Given the description of an element on the screen output the (x, y) to click on. 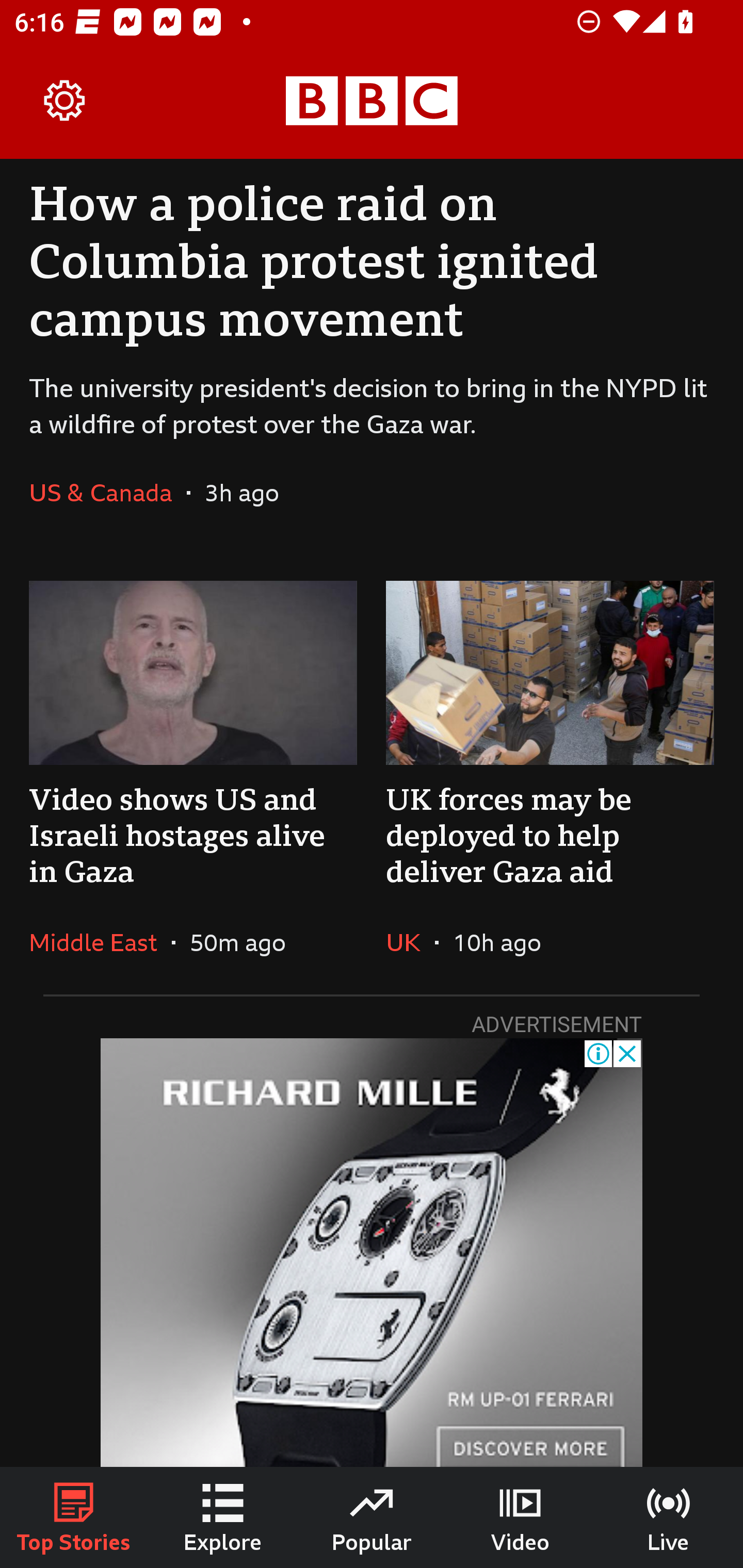
Settings (64, 100)
US & Canada In the section US & Canada (107, 492)
Middle East In the section Middle East (99, 942)
UK In the section UK (409, 942)
Explore (222, 1517)
Popular (371, 1517)
Video (519, 1517)
Live (668, 1517)
